Given the description of an element on the screen output the (x, y) to click on. 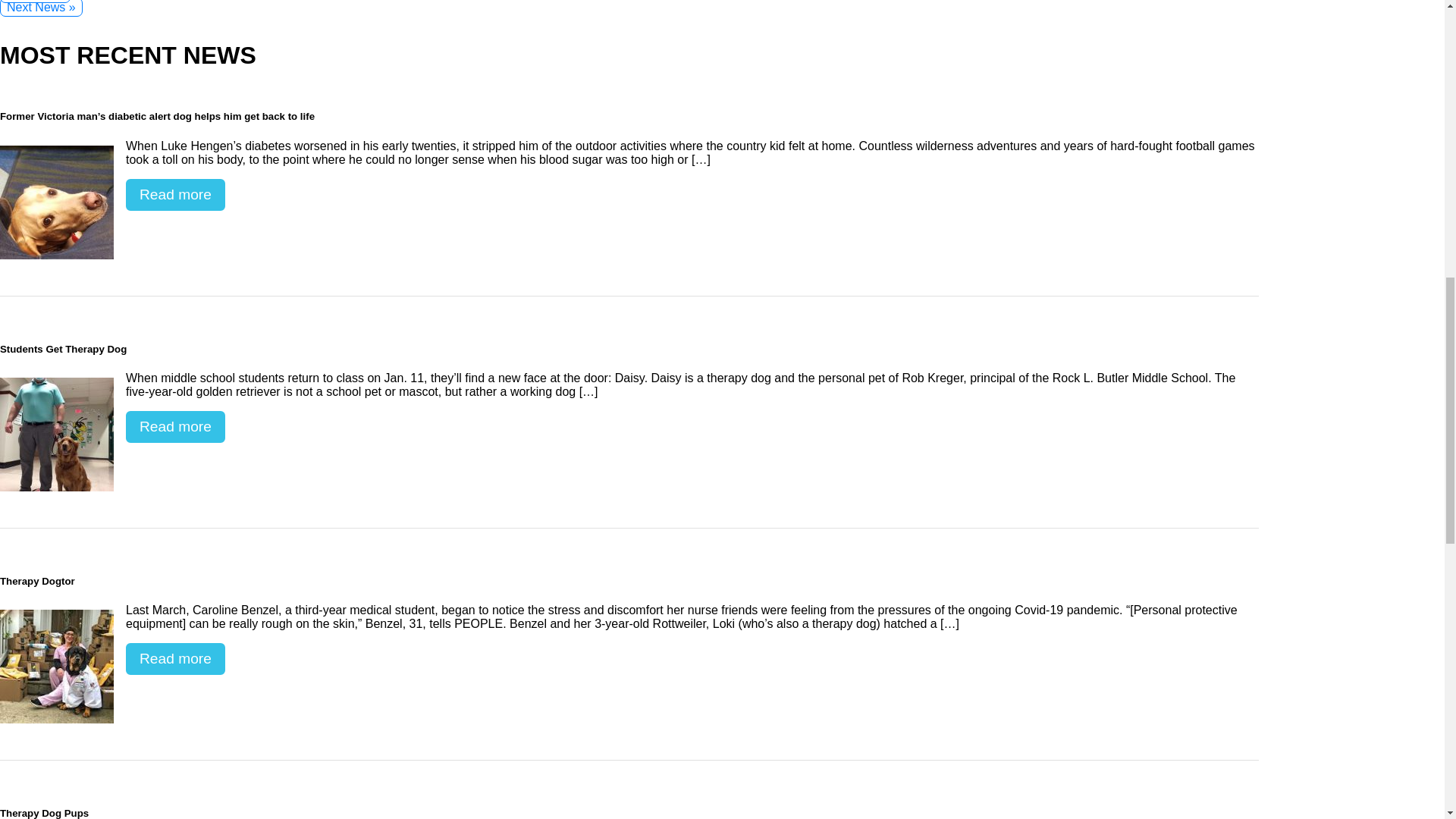
Students Get Therapy Dog (56, 434)
Read more (175, 194)
Read more (175, 427)
Read more (175, 658)
Therapy Dogtor (56, 666)
